Given the description of an element on the screen output the (x, y) to click on. 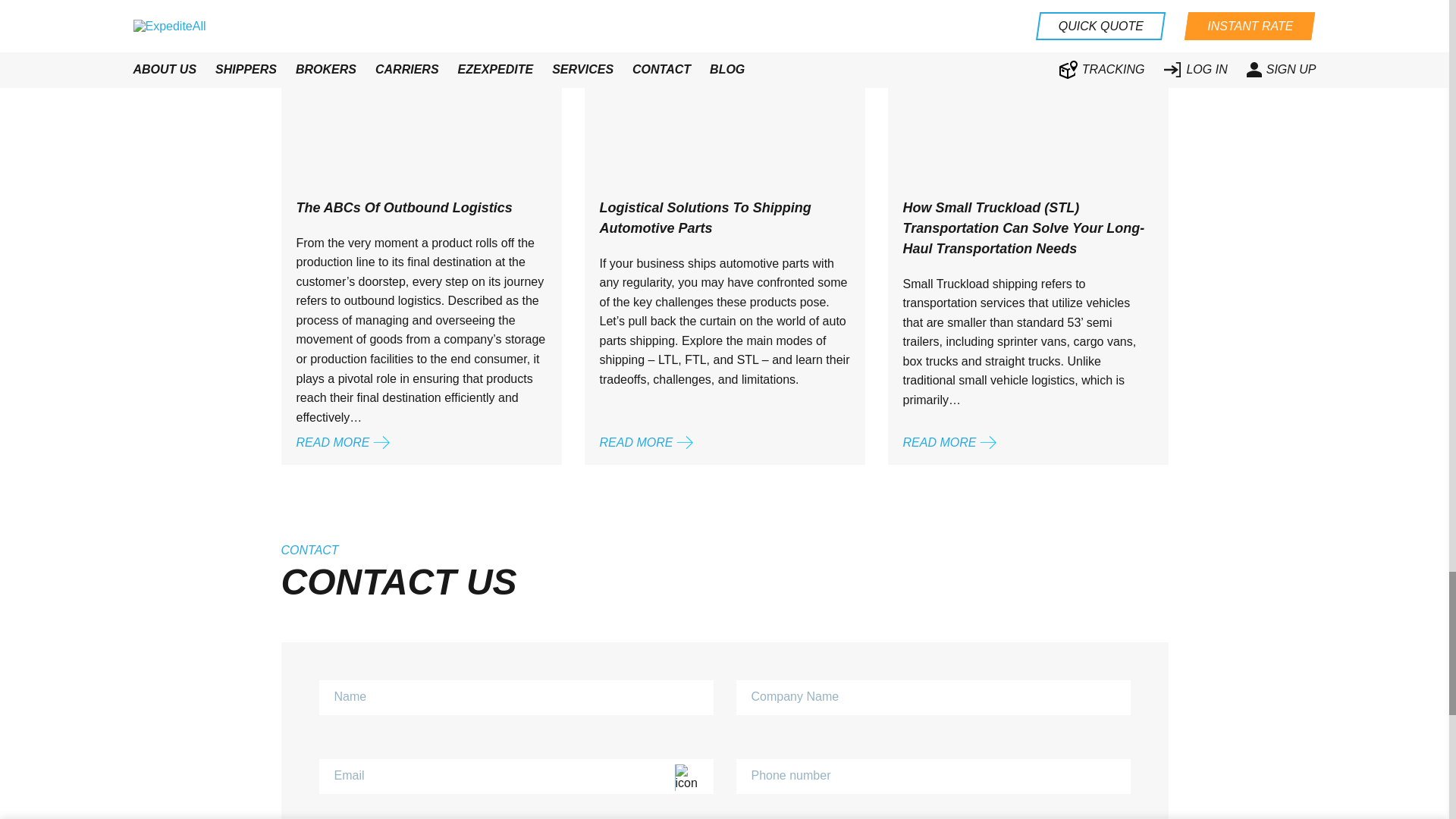
banner-autoparts-1 (640, 37)
how-small-truckload (946, 37)
expedite all-fleet (331, 37)
icon (692, 777)
